Given the description of an element on the screen output the (x, y) to click on. 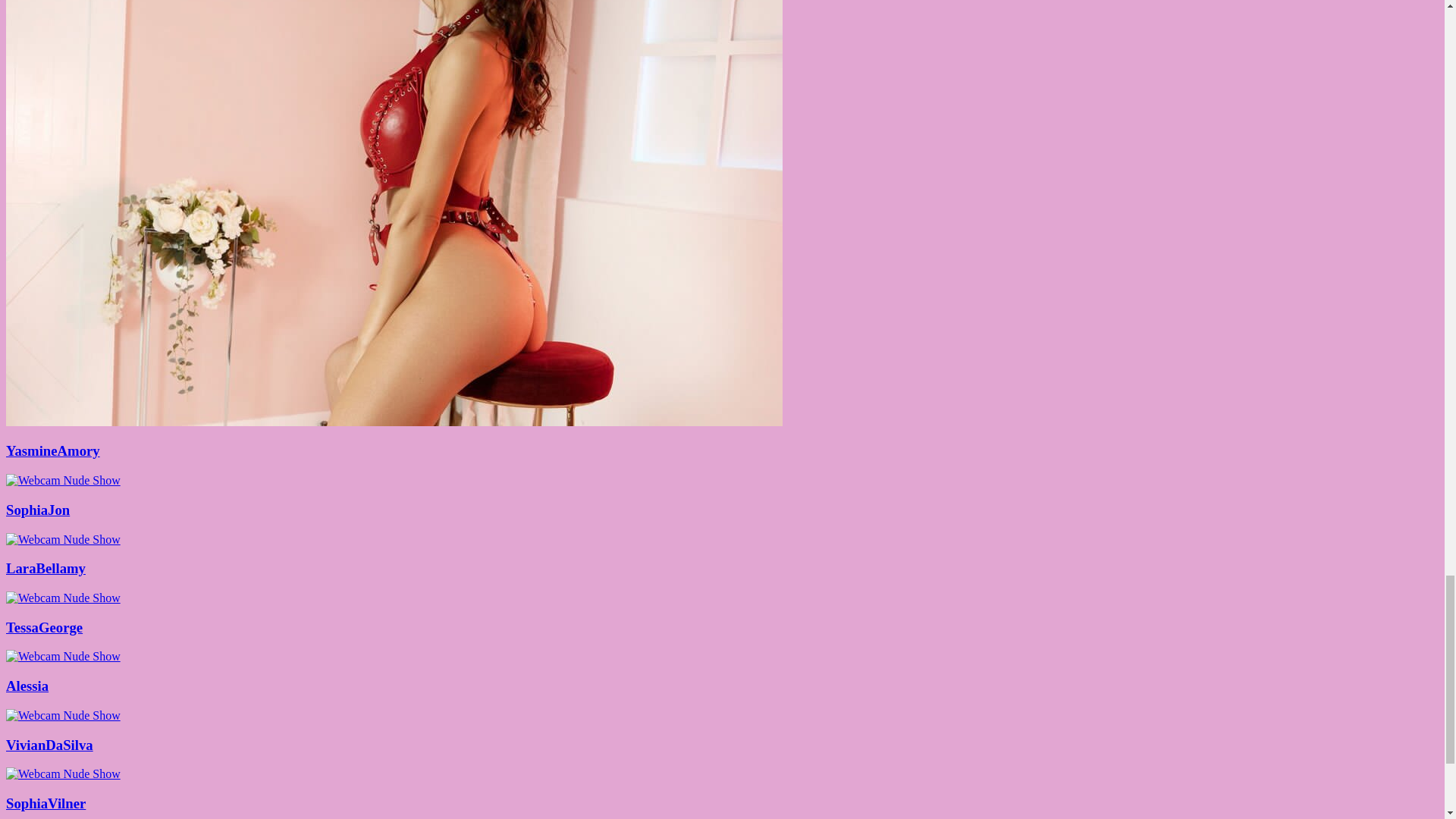
Webcam Nude Show (394, 421)
